Given the description of an element on the screen output the (x, y) to click on. 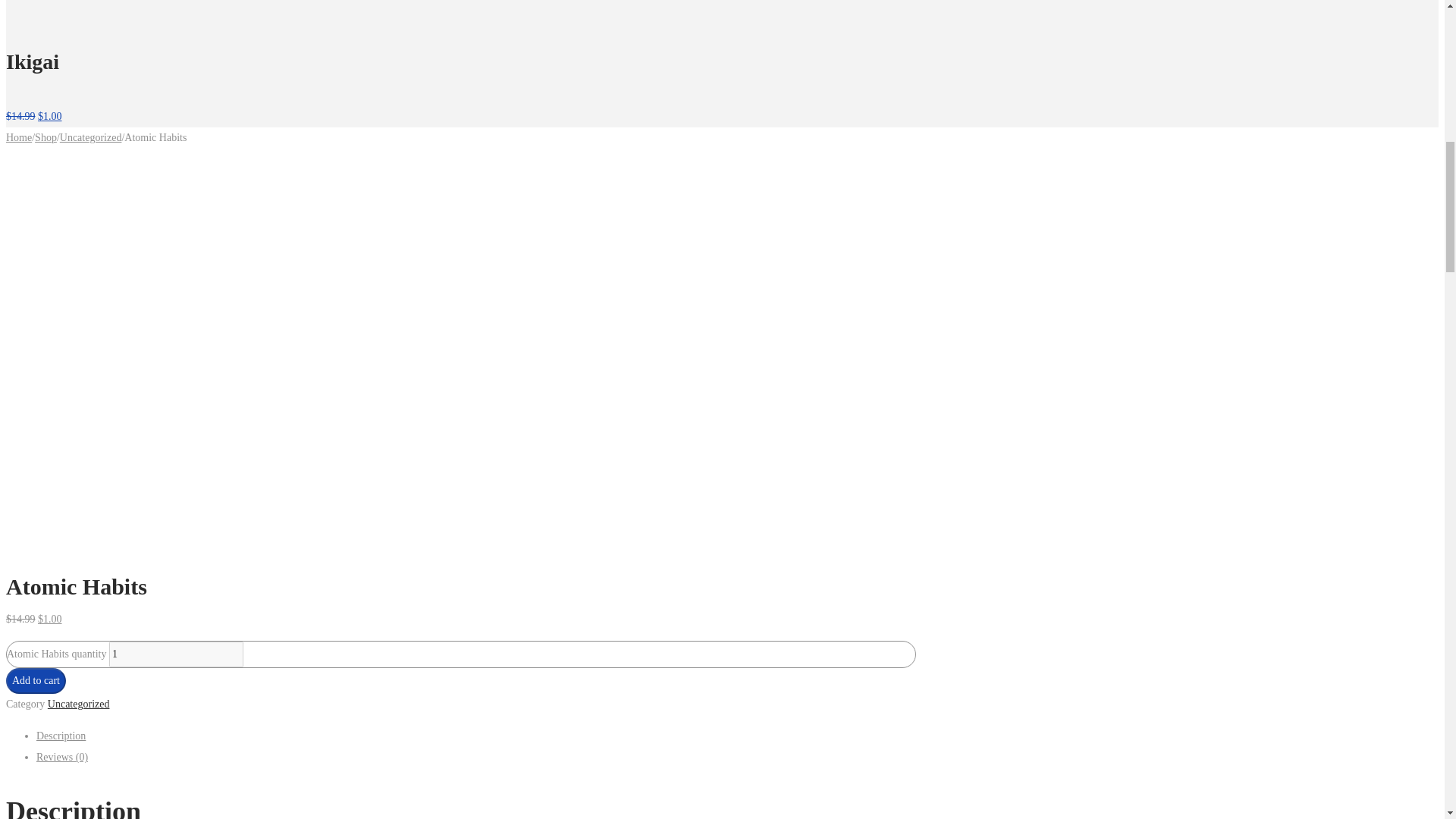
Home (18, 137)
Uncategorized (90, 137)
Shop (45, 137)
Add to cart (35, 680)
Uncategorized (79, 704)
Description (60, 736)
1 (176, 654)
